Given the description of an element on the screen output the (x, y) to click on. 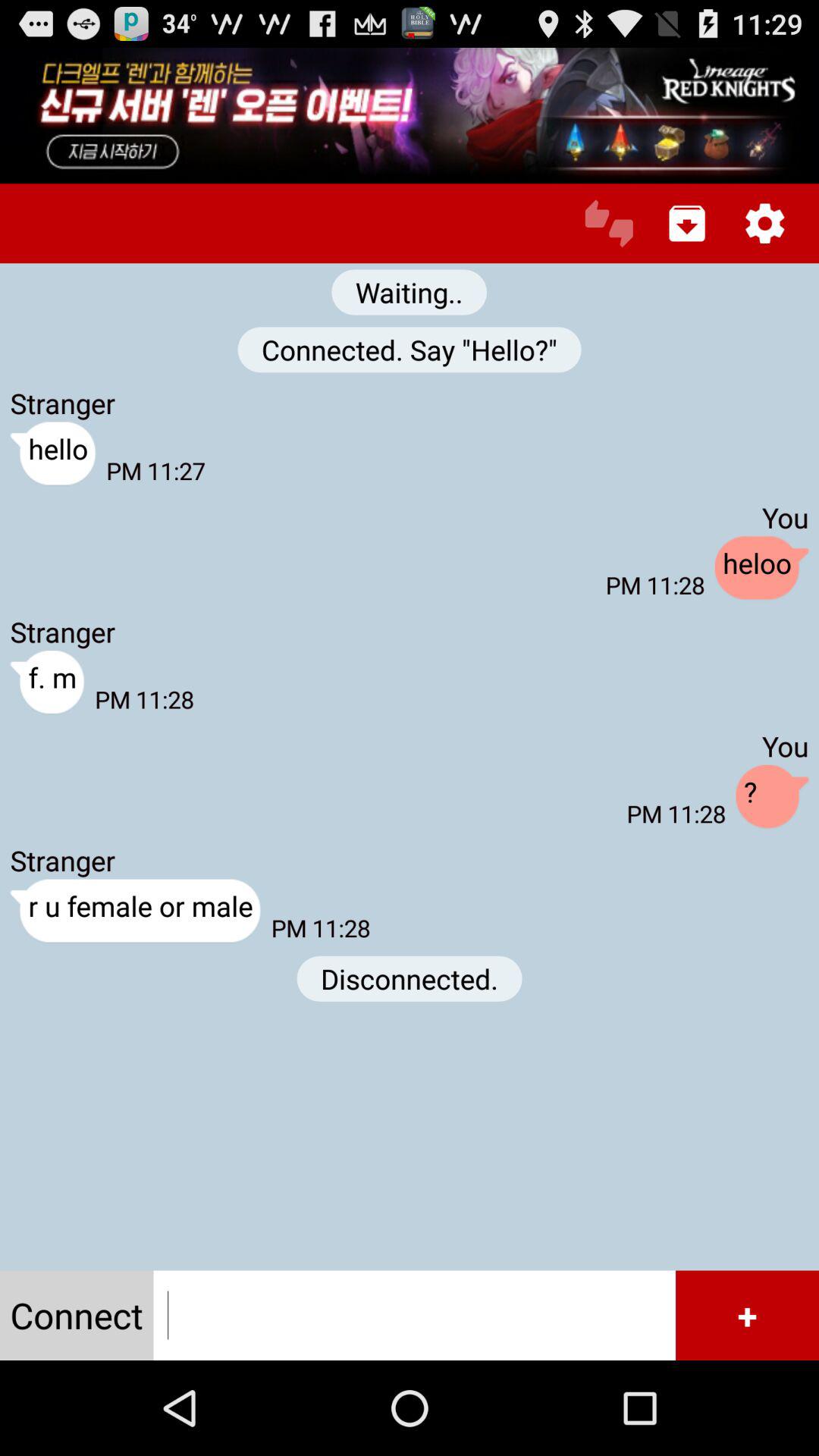
click ? app (771, 796)
